Given the description of an element on the screen output the (x, y) to click on. 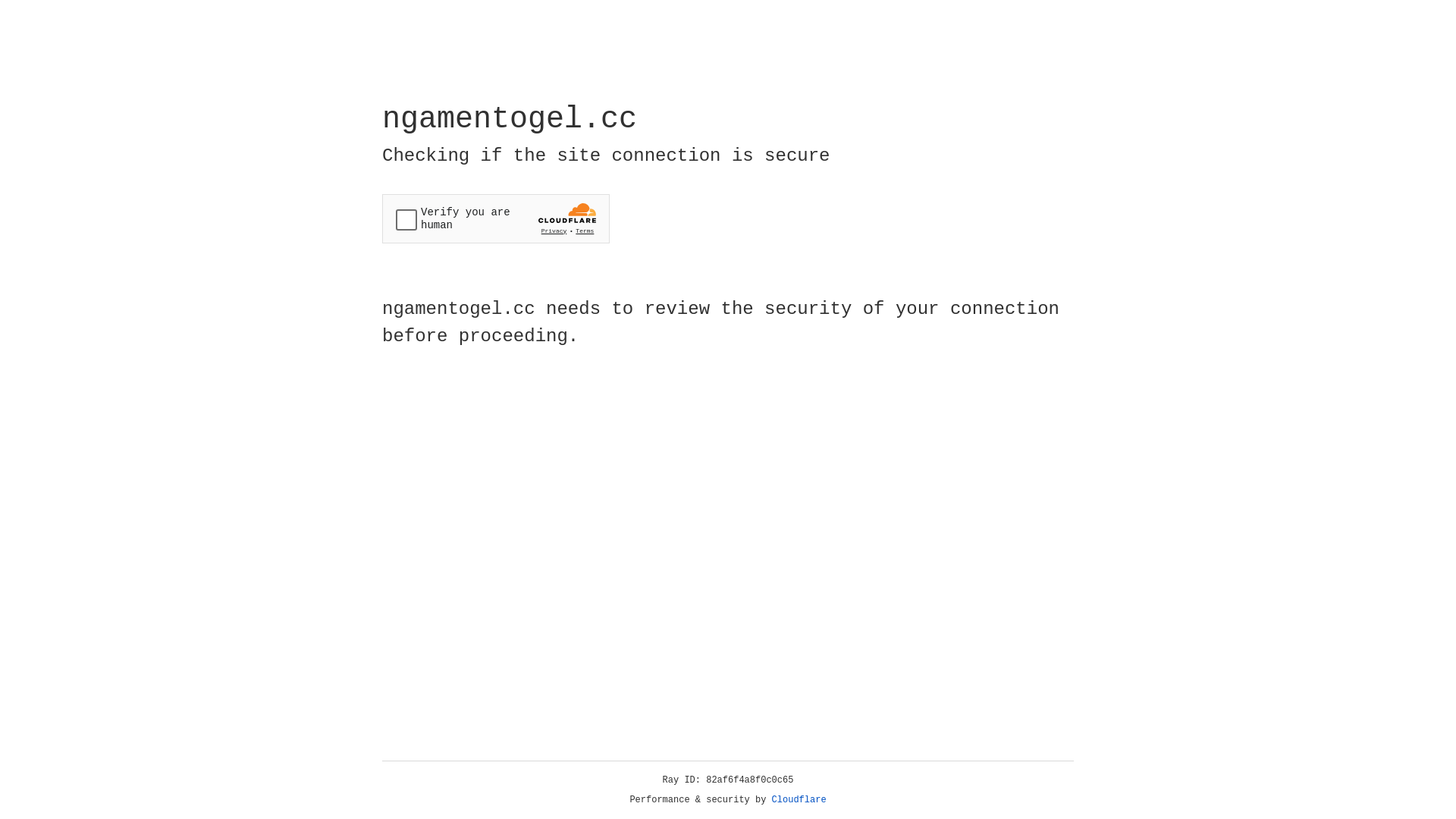
Cloudflare Element type: text (798, 799)
Widget containing a Cloudflare security challenge Element type: hover (495, 218)
